Given the description of an element on the screen output the (x, y) to click on. 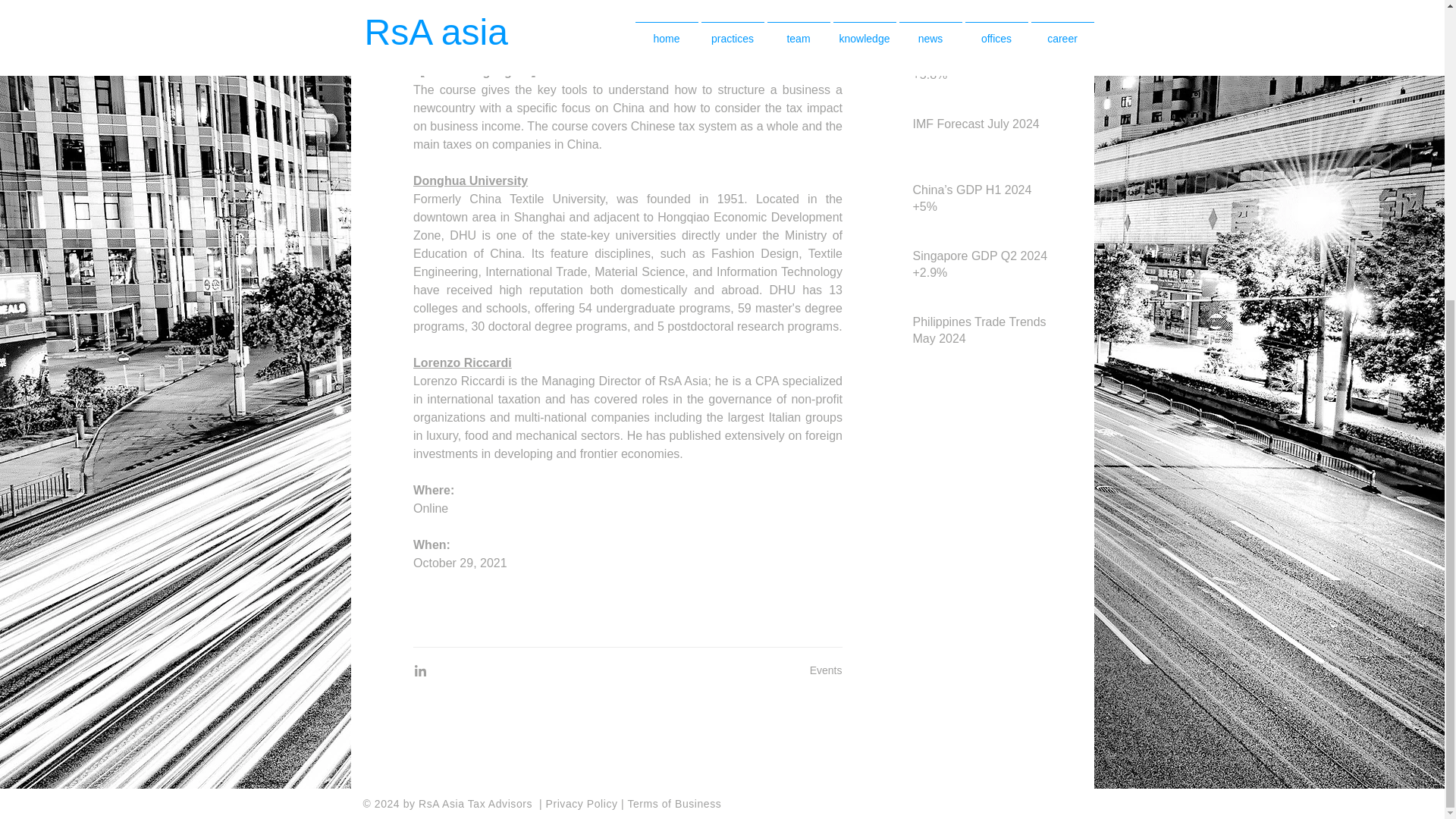
Privacy Policy (583, 803)
Philippines Trade Trends May 2024 (981, 333)
China's Trade June 2024 (981, 3)
Events (826, 670)
IMF Forecast July 2024 (981, 127)
Terms of Business (673, 803)
